Given the description of an element on the screen output the (x, y) to click on. 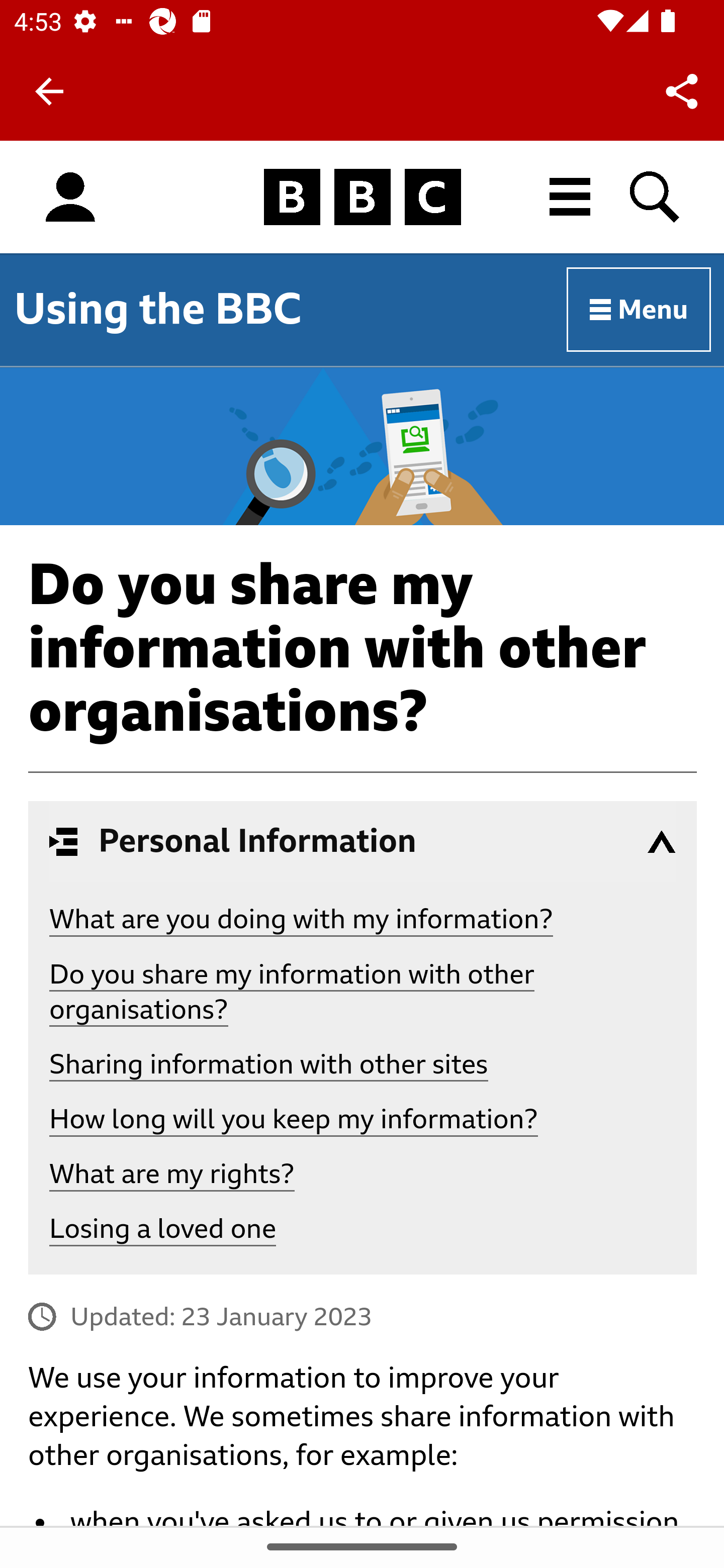
Back (49, 91)
Share (681, 90)
All BBC destinations menu (570, 197)
Search BBC (655, 197)
Sign in (70, 198)
Homepage (361, 198)
Menu (639, 310)
Using the BBC (157, 308)
Personal Information (362, 840)
